Given the description of an element on the screen output the (x, y) to click on. 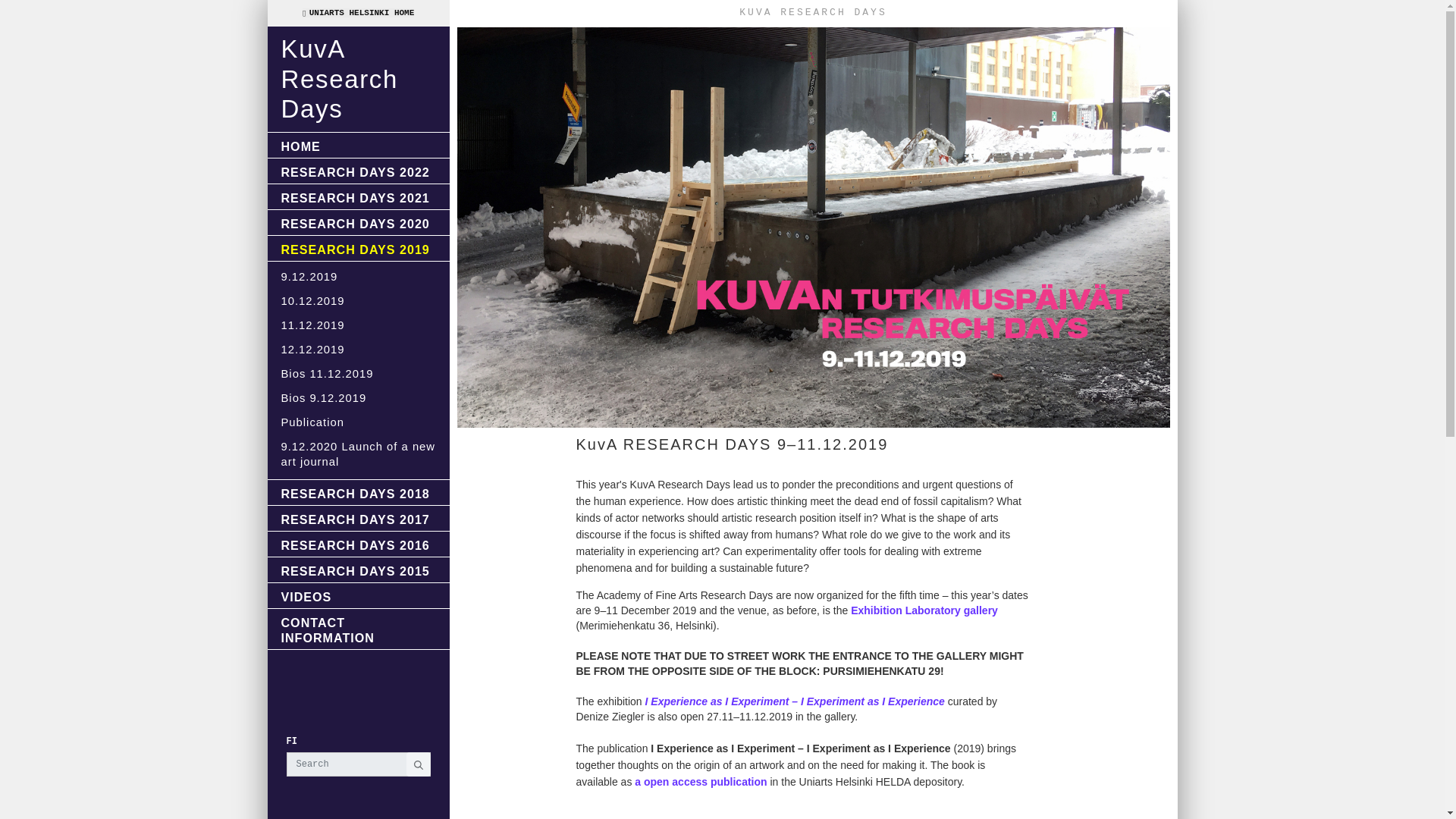
10.12.2019 (357, 301)
Publication (357, 422)
12.12.2019 (357, 349)
11.12.2019 (357, 324)
RESEARCH DAYS 2021 (357, 196)
UNIARTS HELSINKI HOME (358, 12)
HOME (357, 145)
Bios 11.12.2019 (357, 373)
Bios 9.12.2019 (357, 397)
RESEARCH DAYS 2019 (357, 248)
